Given the description of an element on the screen output the (x, y) to click on. 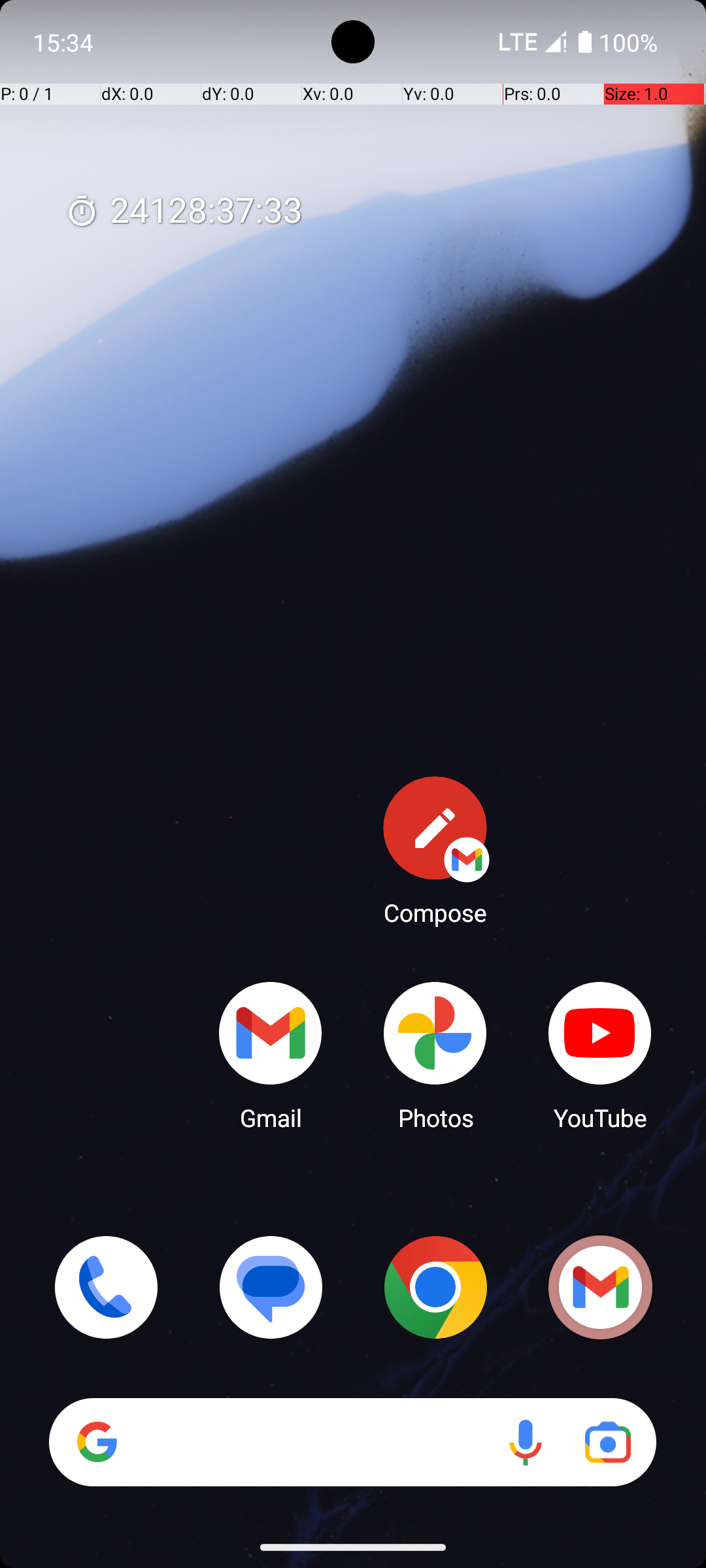
24128:37:32 Element type: android.widget.TextView (183, 210)
